Given the description of an element on the screen output the (x, y) to click on. 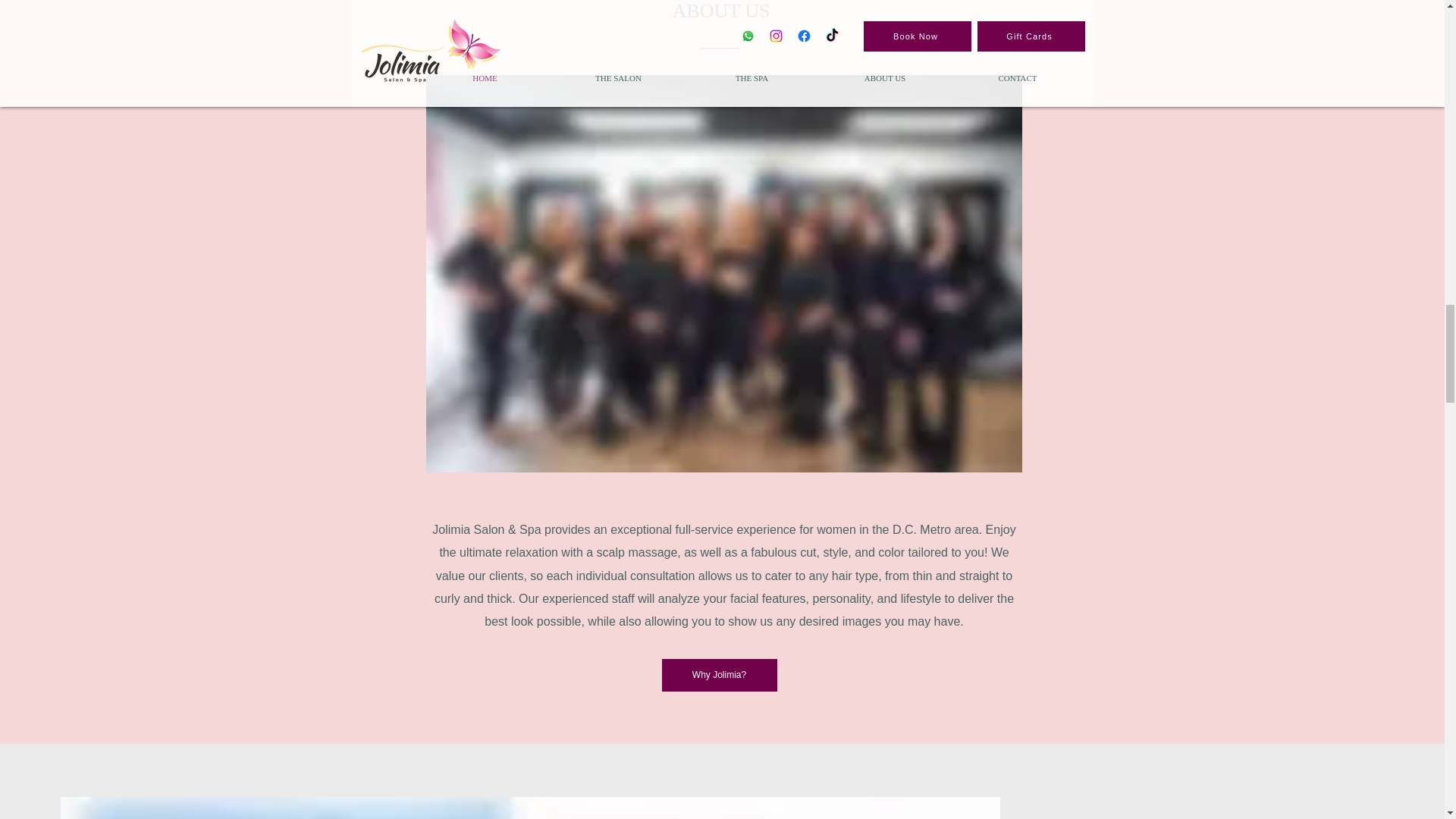
Why Jolimia? (718, 675)
